Given the description of an element on the screen output the (x, y) to click on. 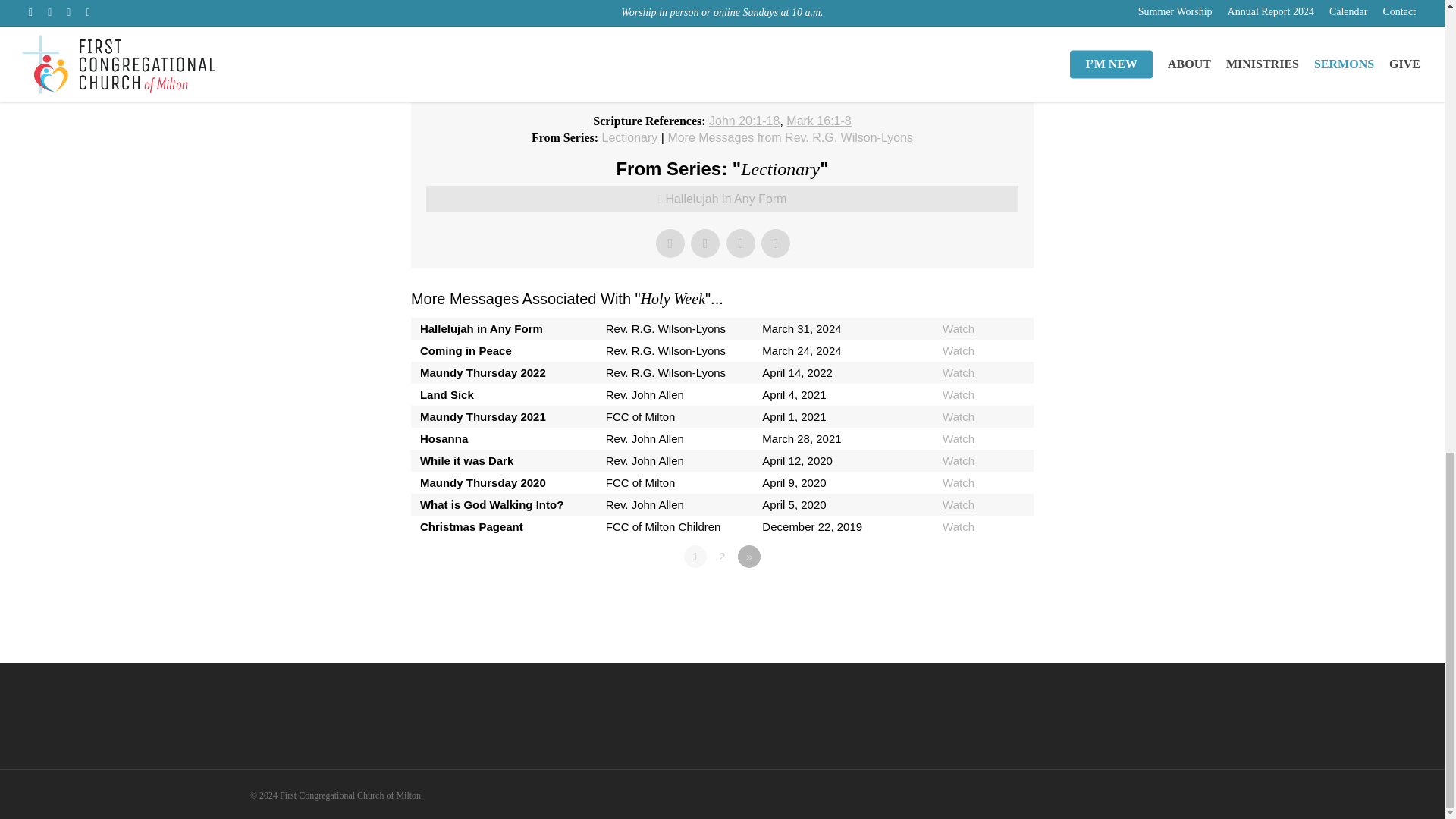
John 20:1-18 (743, 120)
YouTube video player (721, 46)
More Messages from Rev. R.G. Wilson-Lyons (789, 137)
Lectionary (630, 137)
Hallelujah in Any Form (722, 198)
Mark 16:1-8 (818, 120)
